Given the description of an element on the screen output the (x, y) to click on. 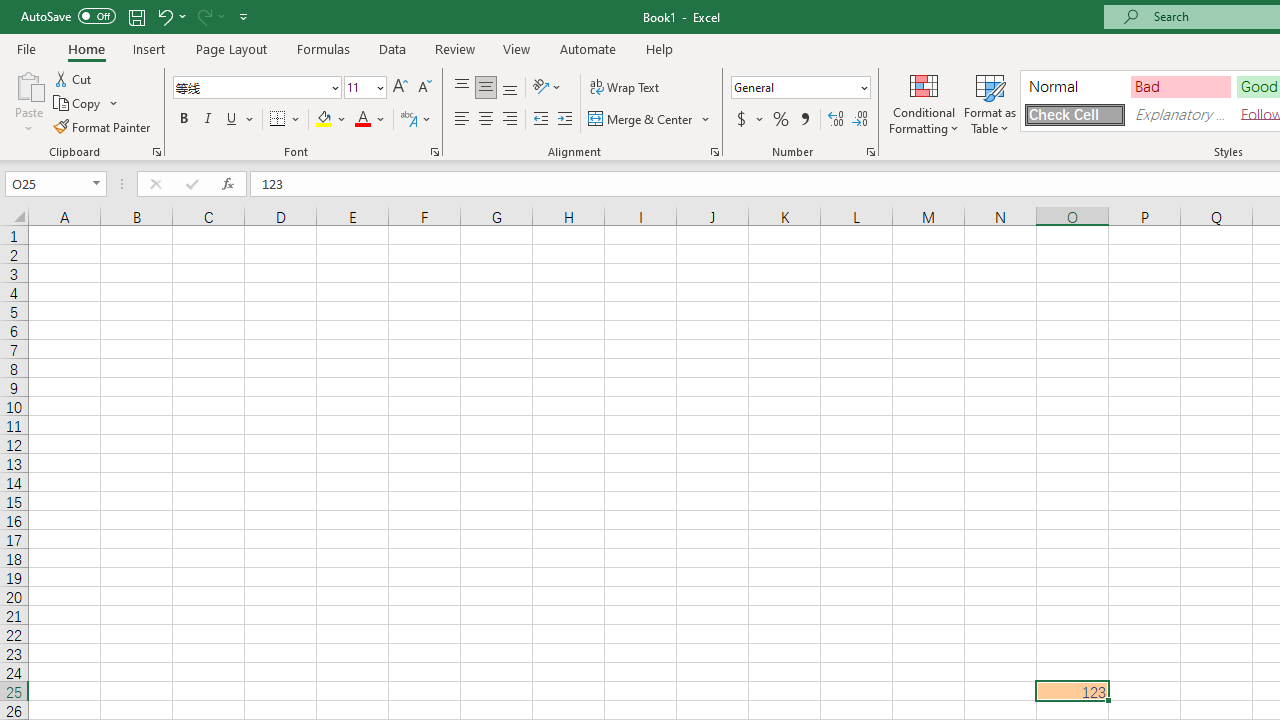
Percent Style (781, 119)
Wrap Text (624, 87)
Decrease Font Size (424, 87)
Underline (239, 119)
Align Left (461, 119)
Number Format (794, 87)
Cut (73, 78)
Show Phonetic Field (408, 119)
Format Cell Number (870, 151)
Borders (285, 119)
Underline (232, 119)
